Given the description of an element on the screen output the (x, y) to click on. 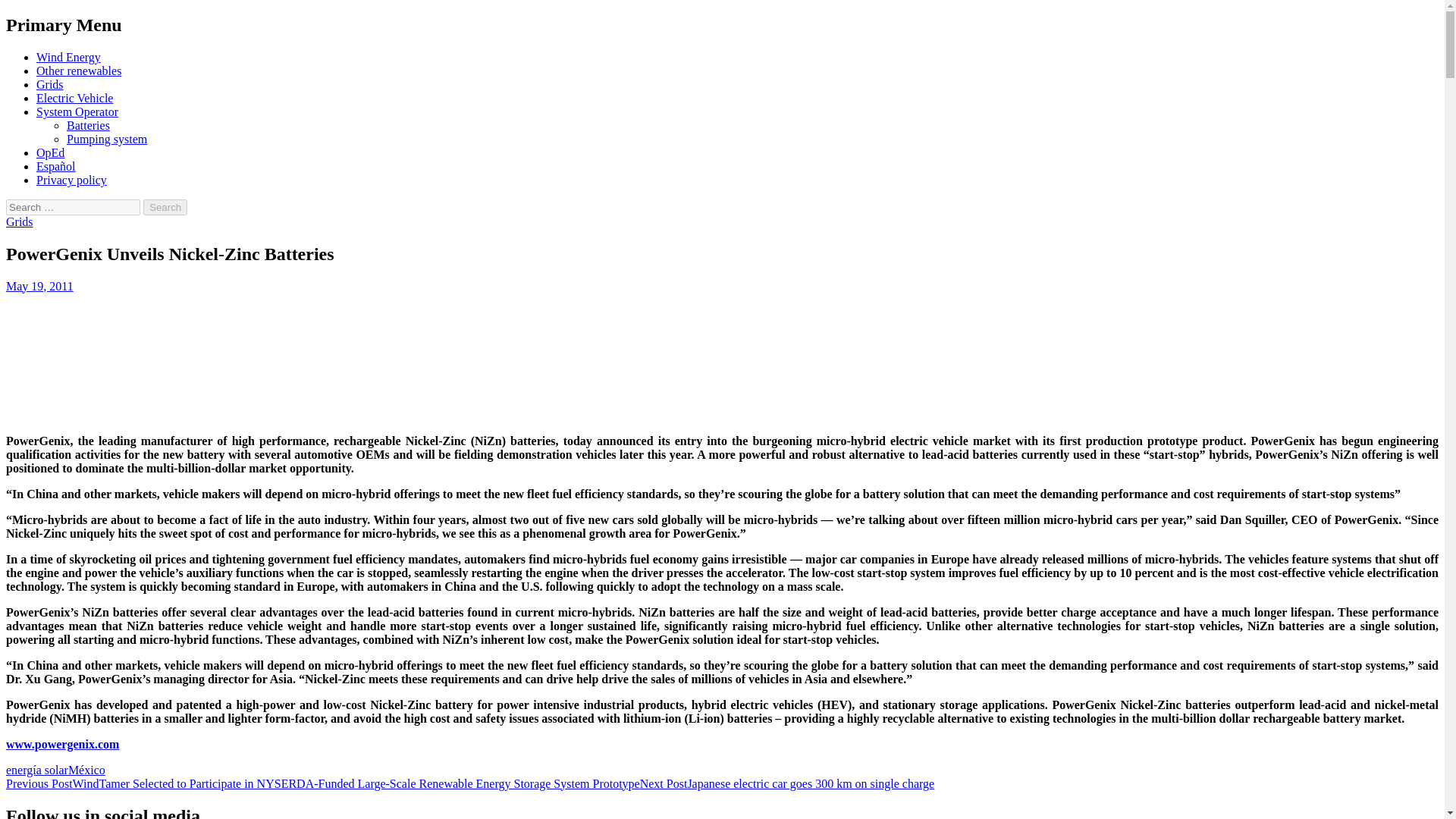
Electric Vehicle (74, 97)
System Operator (76, 111)
Search (164, 207)
Pumping system (106, 138)
Next PostJapanese electric car goes 300 km on single charge (787, 783)
Grids (50, 83)
OpEd (50, 152)
www.powergenix.com (62, 744)
Other renewables (78, 70)
Batteries (88, 124)
May 19, 2011 (39, 286)
Privacy policy (71, 179)
Wind Energy (68, 56)
